Given the description of an element on the screen output the (x, y) to click on. 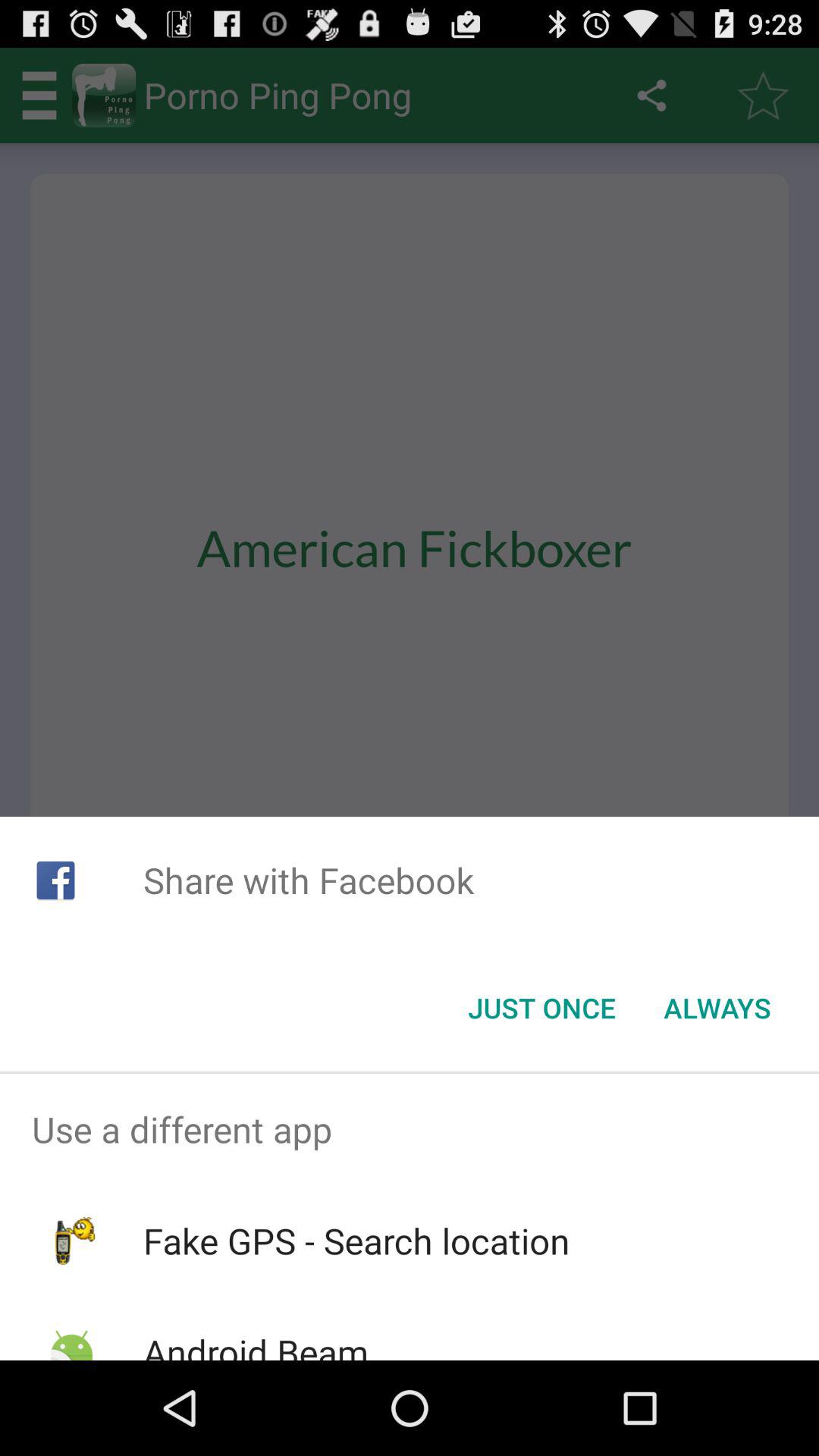
select the always at the bottom right corner (717, 1007)
